Given the description of an element on the screen output the (x, y) to click on. 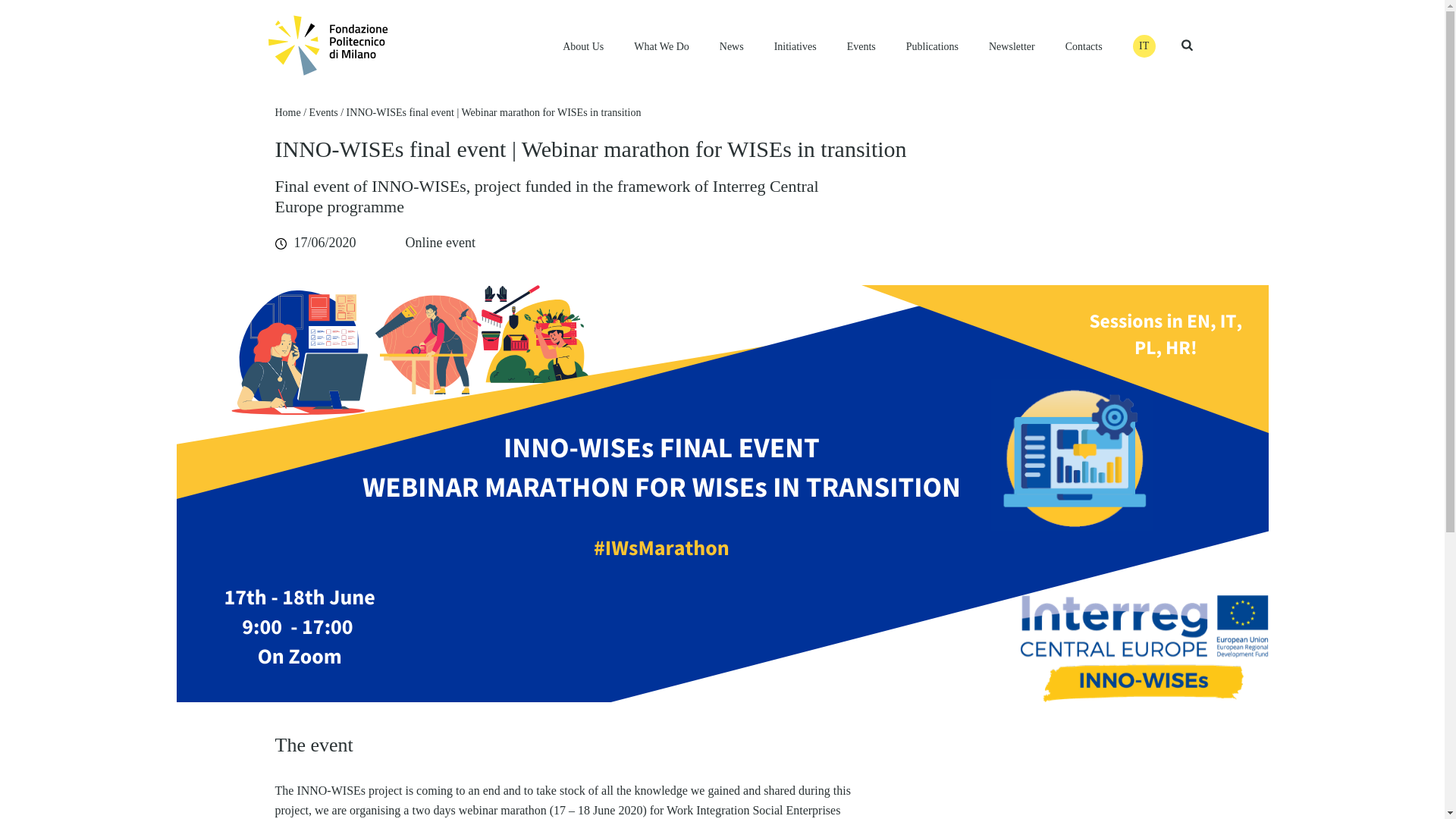
Contacts (1083, 45)
News (731, 45)
Events (861, 45)
IT (1144, 46)
Newsletter (1011, 45)
Initiatives (795, 45)
News (731, 45)
Publications (931, 45)
Events (322, 112)
Initiatives (795, 45)
What We Do (660, 45)
Contacts (1083, 45)
Events (861, 45)
Publications (931, 45)
About Us (583, 45)
